Given the description of an element on the screen output the (x, y) to click on. 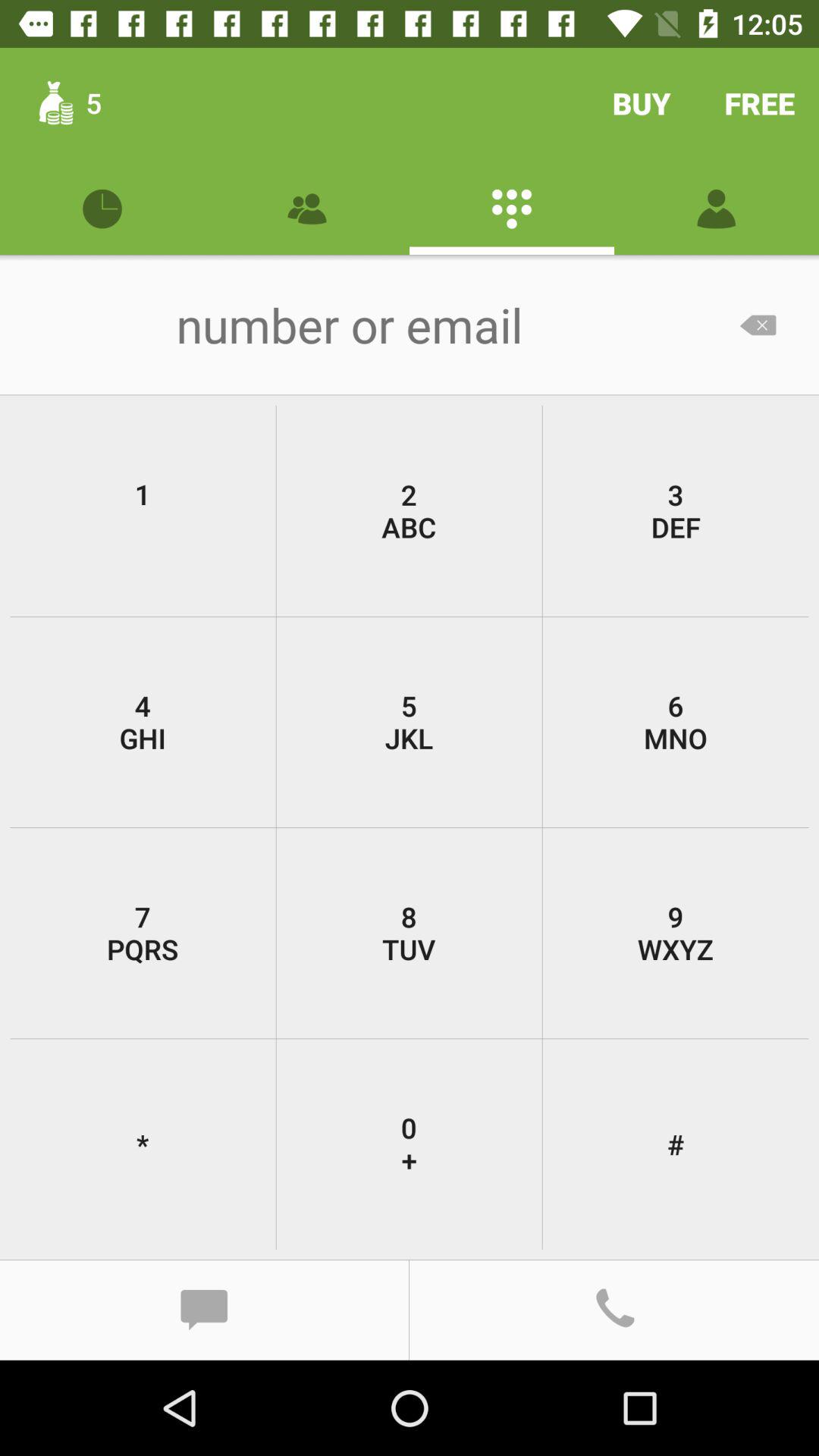
choose item below 5
jkl (675, 933)
